Given the description of an element on the screen output the (x, y) to click on. 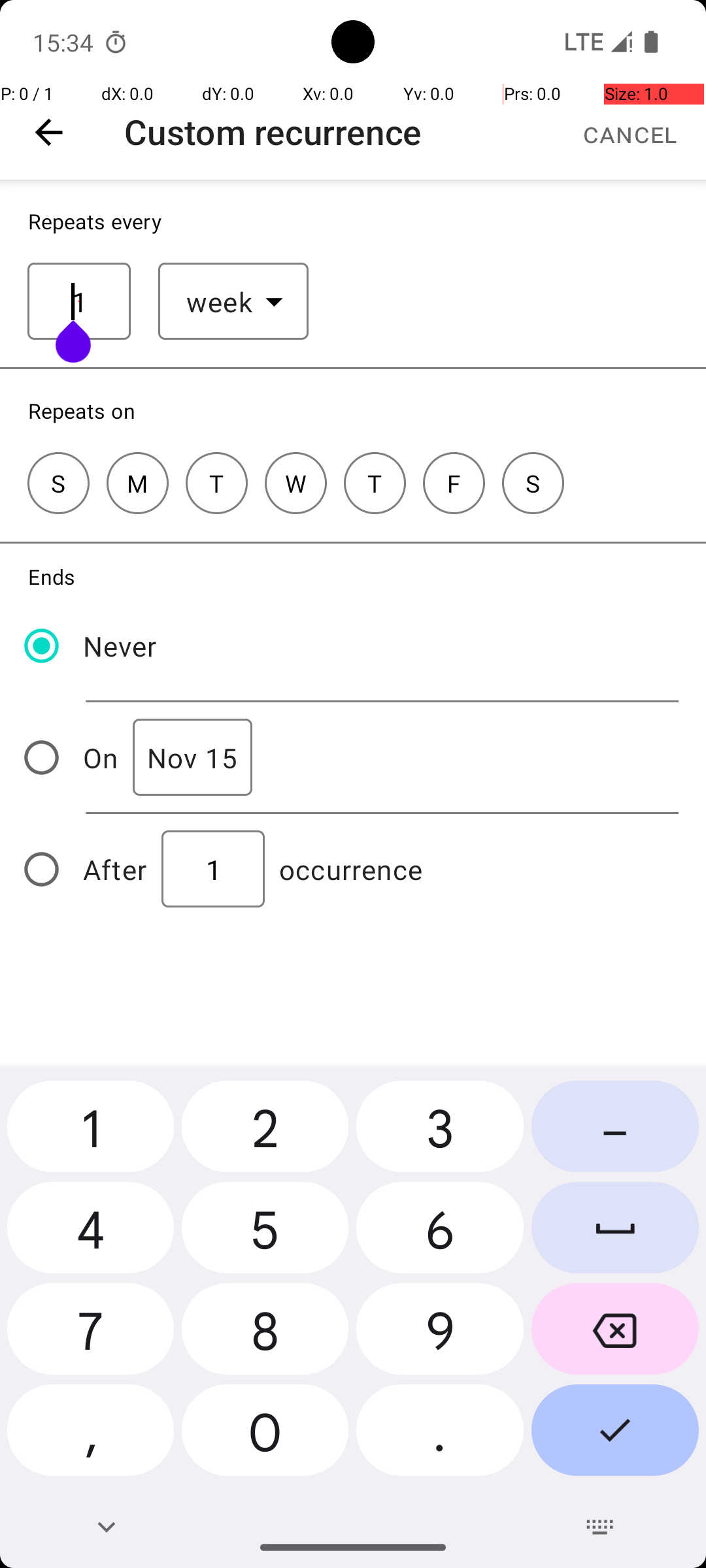
Repeats every Element type: android.widget.TextView (94, 221)
Repeats on Element type: android.widget.TextView (81, 410)
Ends Element type: android.widget.TextView (51, 576)
Custom recurrence Element type: android.widget.TextView (273, 131)
week Element type: android.widget.TextView (219, 301)
Never Element type: android.widget.TextView (120, 645)
After Element type: android.widget.TextView (114, 868)
occurrence Element type: android.widget.TextView (350, 868)
Nov 15 Element type: android.widget.TextView (192, 757)
